Given the description of an element on the screen output the (x, y) to click on. 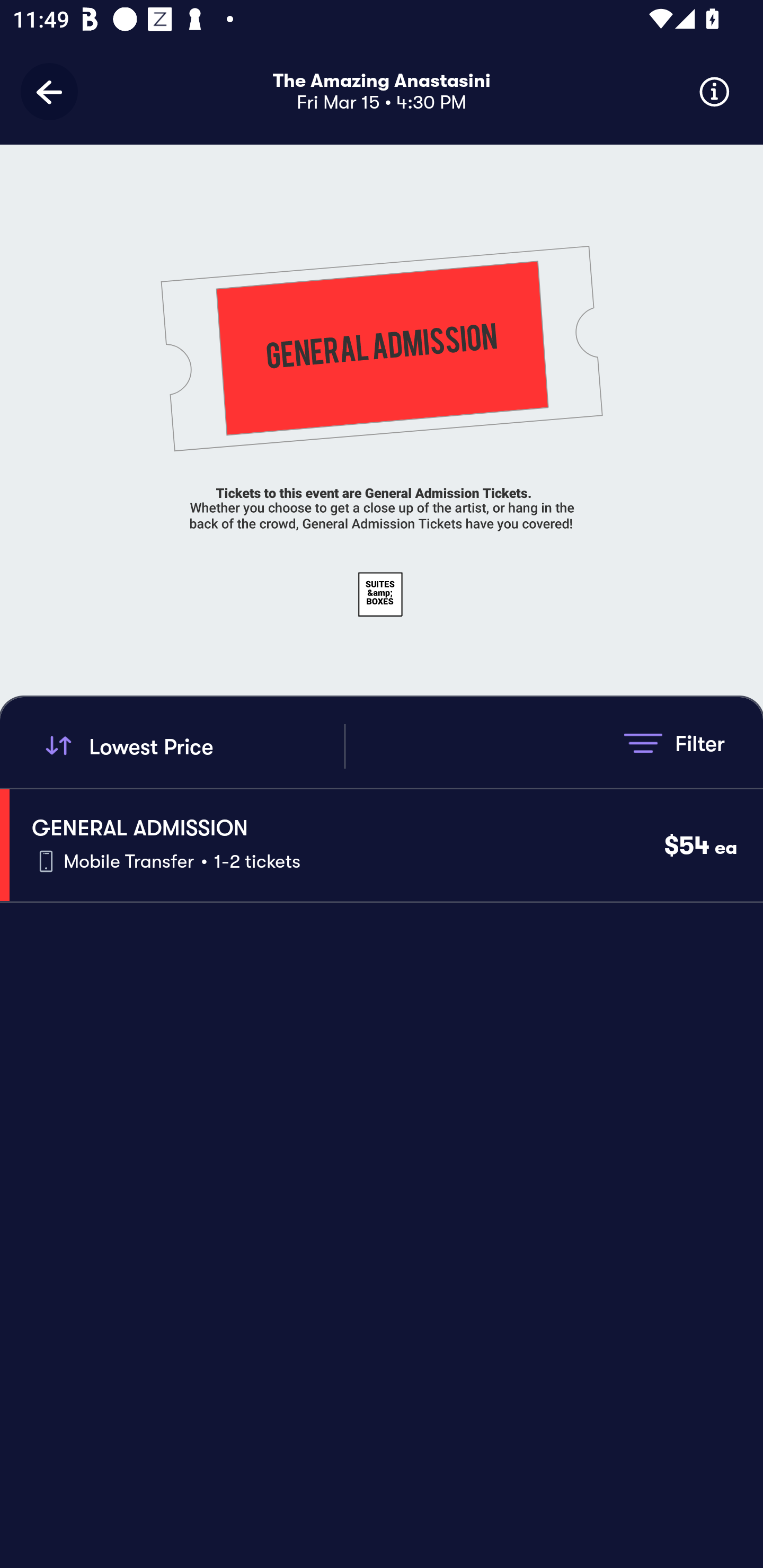
Lowest Price (191, 746)
Filter (674, 743)
